Given the description of an element on the screen output the (x, y) to click on. 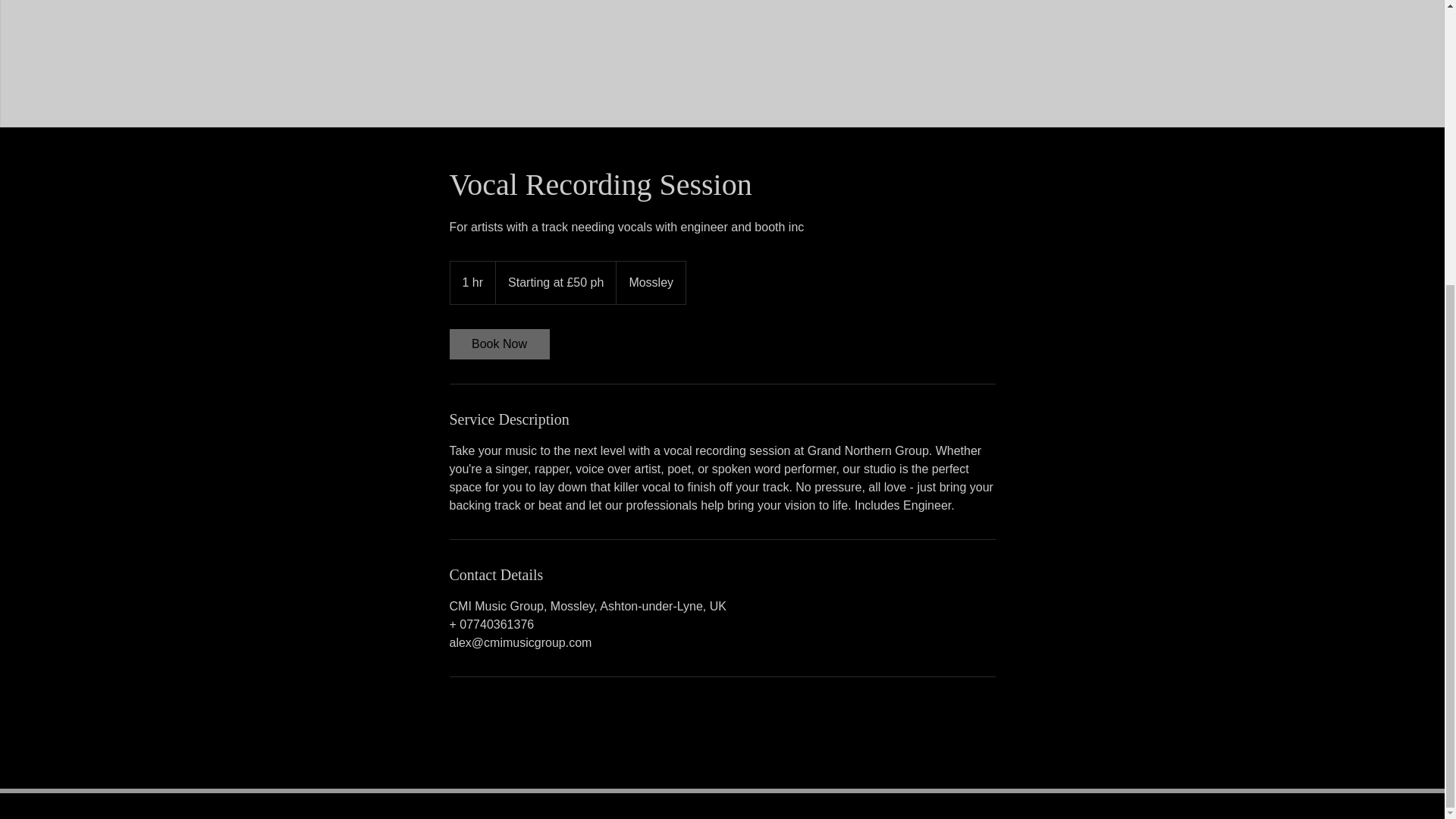
Book Now (498, 344)
